Given the description of an element on the screen output the (x, y) to click on. 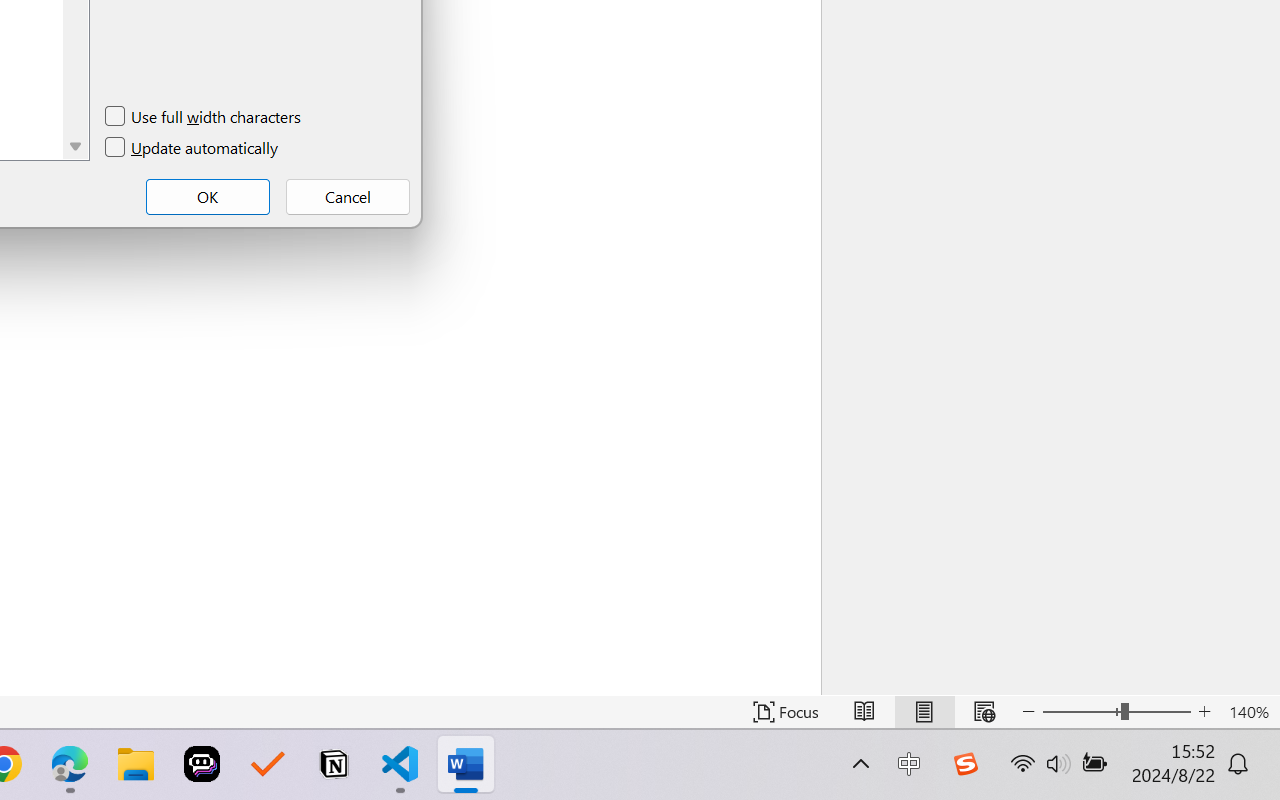
OK (207, 196)
Read Mode (864, 712)
Use full width characters (204, 116)
Zoom Out (1081, 712)
Cancel (347, 196)
Print Layout (924, 712)
Update automatically (192, 147)
Zoom In (1204, 712)
Zoom (1116, 712)
